Given the description of an element on the screen output the (x, y) to click on. 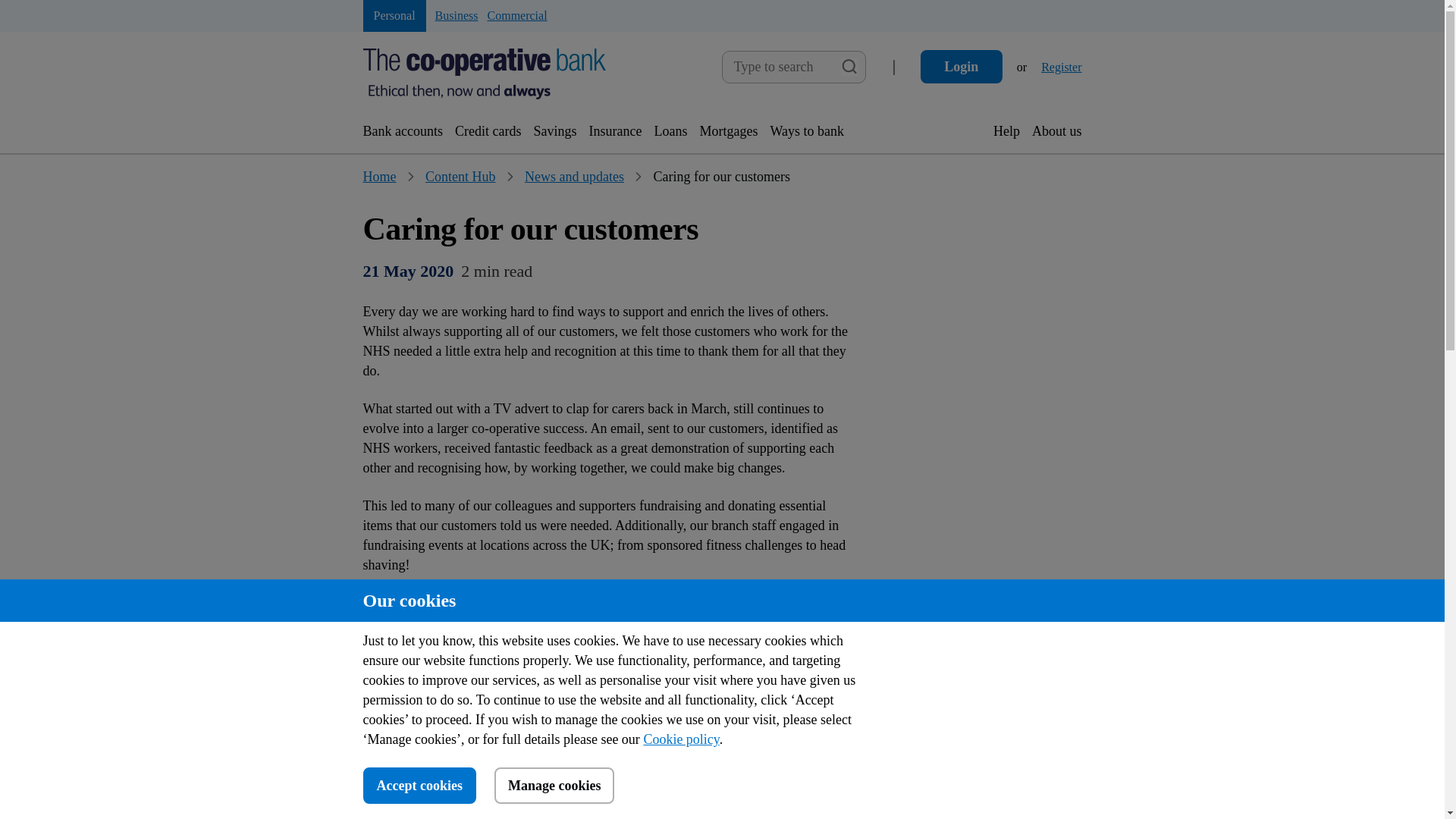
Register (961, 66)
Credit cards (1061, 66)
About us (487, 130)
Manage cookies (1056, 130)
Personal (554, 785)
Register (393, 15)
Content Hub (1061, 66)
Login (460, 176)
Loans (961, 66)
